Given the description of an element on the screen output the (x, y) to click on. 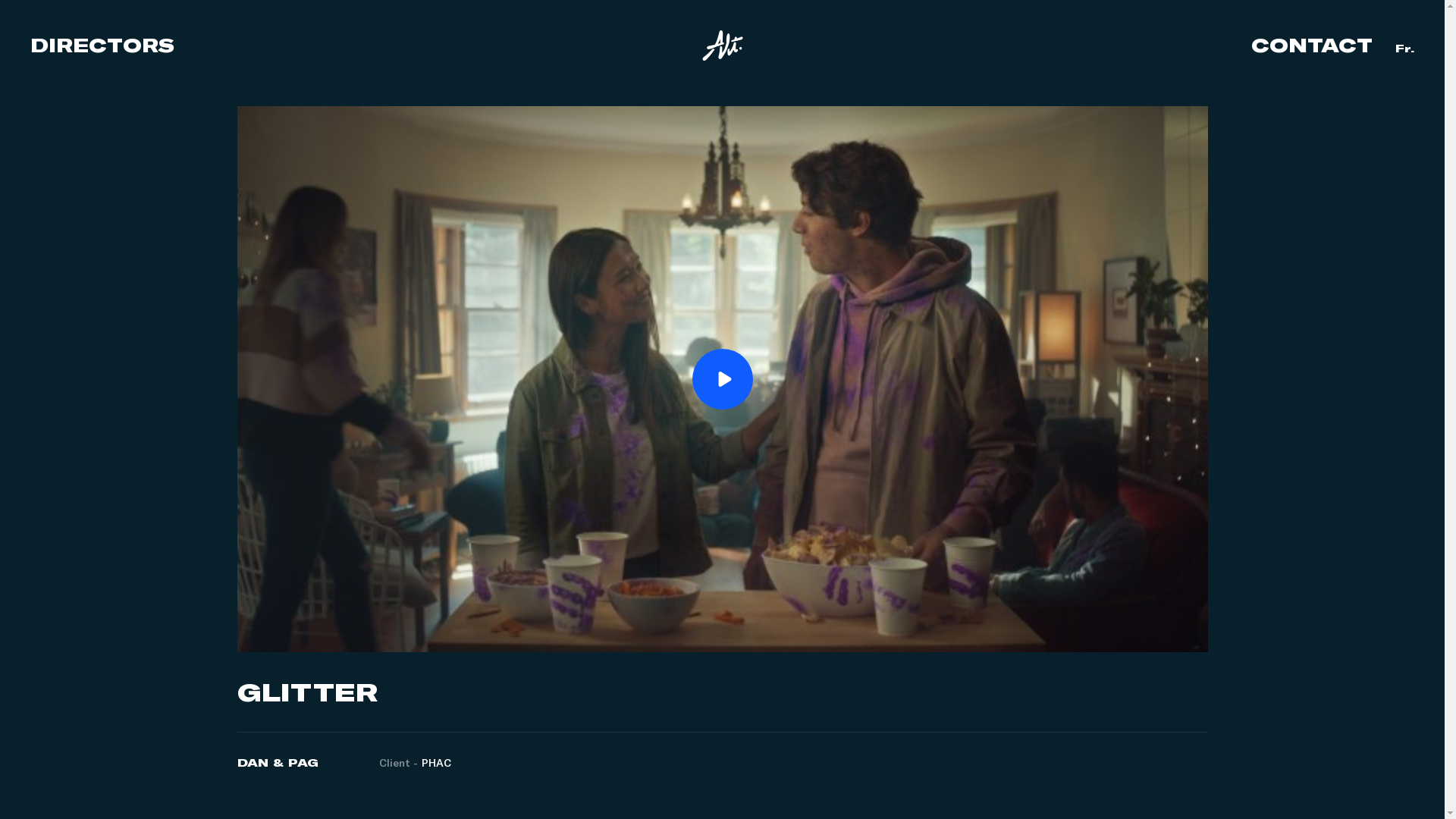
Fr. Element type: text (1404, 48)
Skip to content Element type: text (0, 0)
CONTACT Element type: text (1311, 45)
DAN & PAG Element type: text (276, 762)
DIRECTORS Element type: text (102, 45)
